Given the description of an element on the screen output the (x, y) to click on. 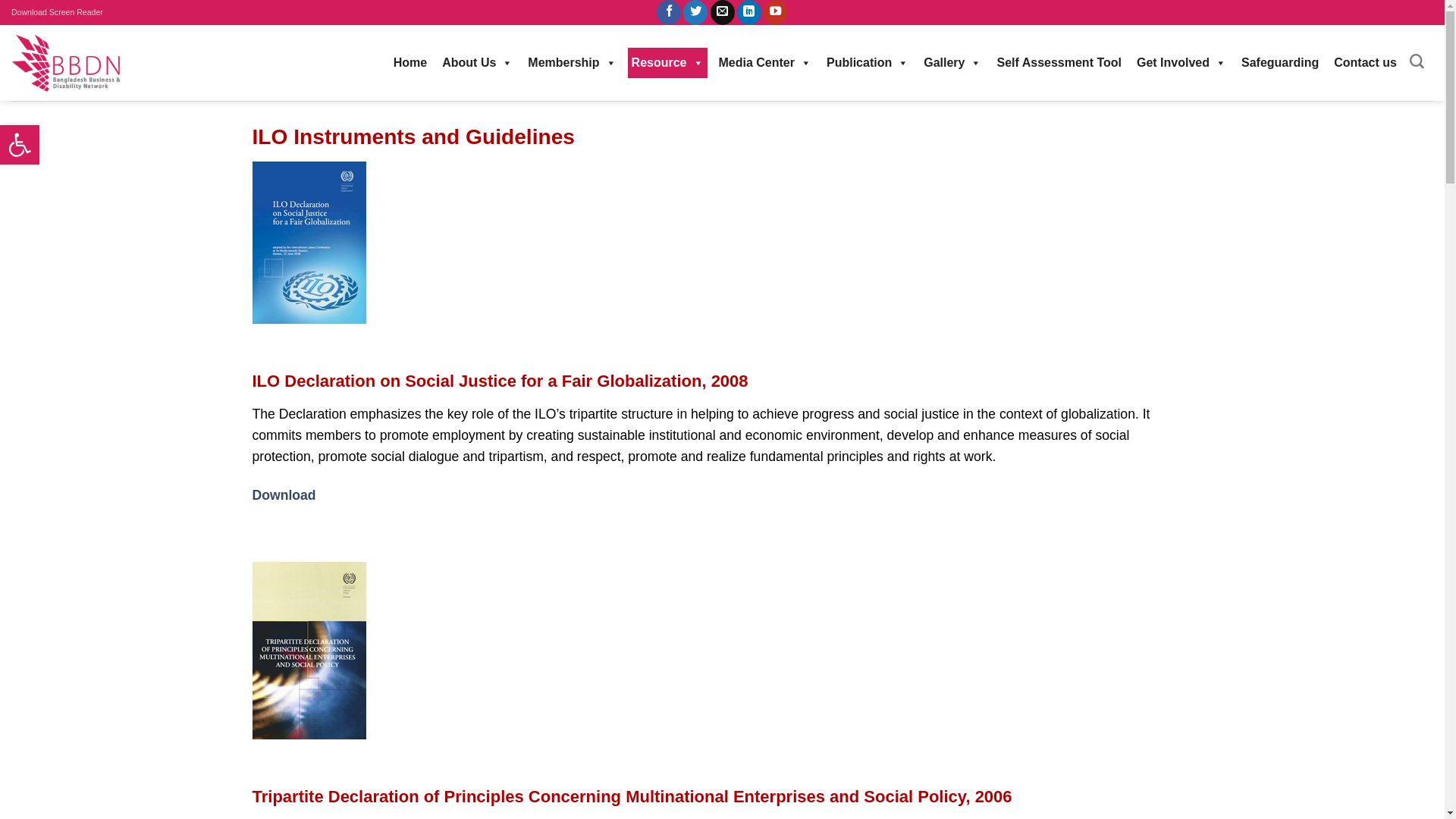
BBDN - Bangladesh Business and Disability Network Element type: hover (68, 62)
Resource Element type: text (667, 62)
Download Element type: text (283, 494)
Contact us Element type: text (1365, 62)
Media Center Element type: text (765, 62)
Gallery Element type: text (952, 62)
Download Screen Reader Element type: text (57, 12)
Skip to content Element type: text (0, 0)
Publication Element type: text (867, 62)
Home Element type: text (409, 62)
Get Involved Element type: text (1181, 62)
Open toolbar
Accessibility Tools Element type: text (19, 144)
About Us Element type: text (477, 62)
Self Assessment Tool Element type: text (1058, 62)
Safeguarding Element type: text (1279, 62)
Membership Element type: text (571, 62)
